Given the description of an element on the screen output the (x, y) to click on. 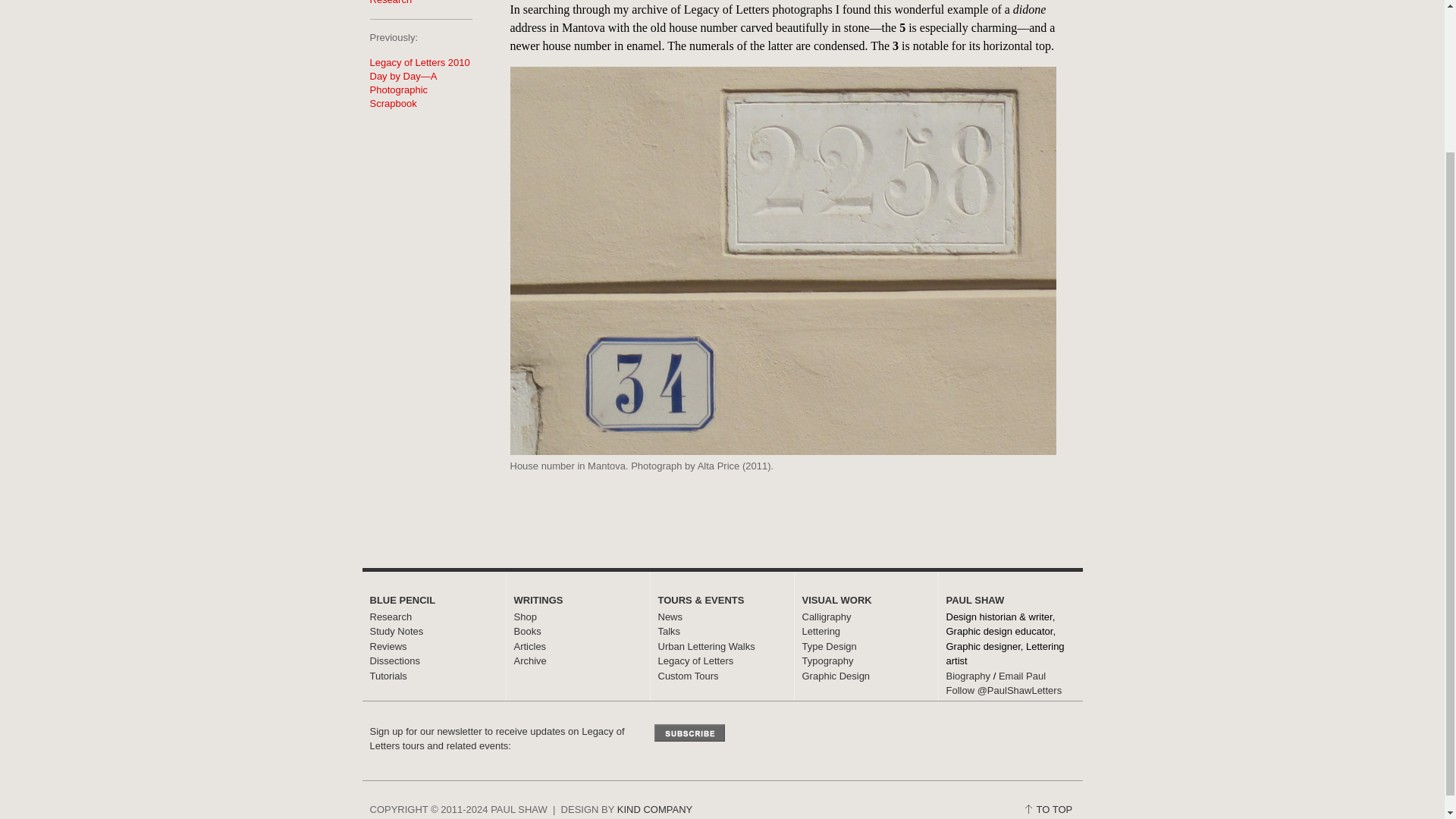
View all posts in Research (390, 2)
